Given the description of an element on the screen output the (x, y) to click on. 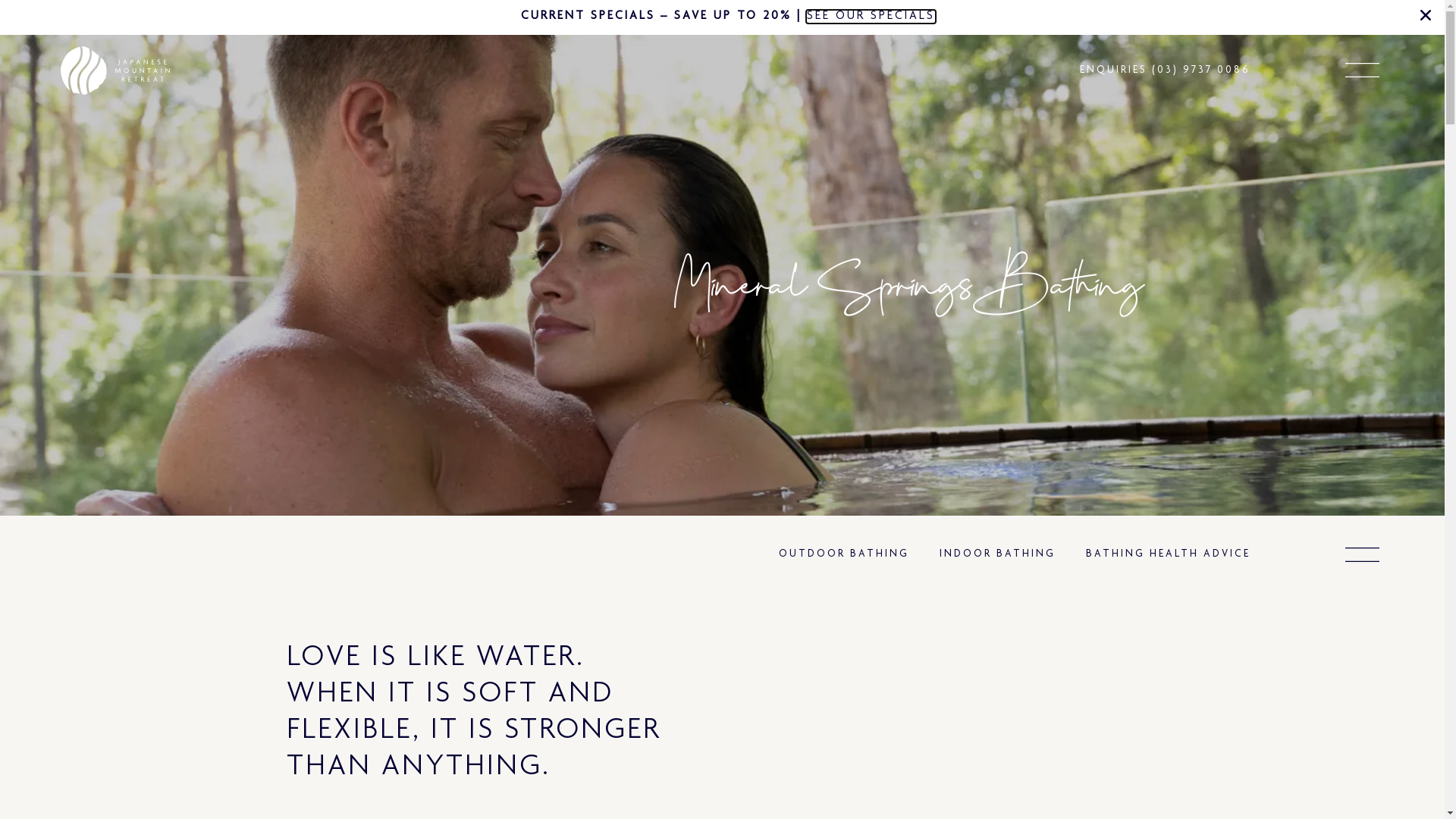
INDOOR BATHING Element type: text (996, 554)
OUTDOOR BATHING Element type: text (843, 554)
SEE OUR SPECIALS Element type: text (870, 16)
ENQUIRIES (03) 9737 0086 Element type: text (1164, 70)
BATHING HEALTH ADVICE Element type: text (1167, 554)
